Given the description of an element on the screen output the (x, y) to click on. 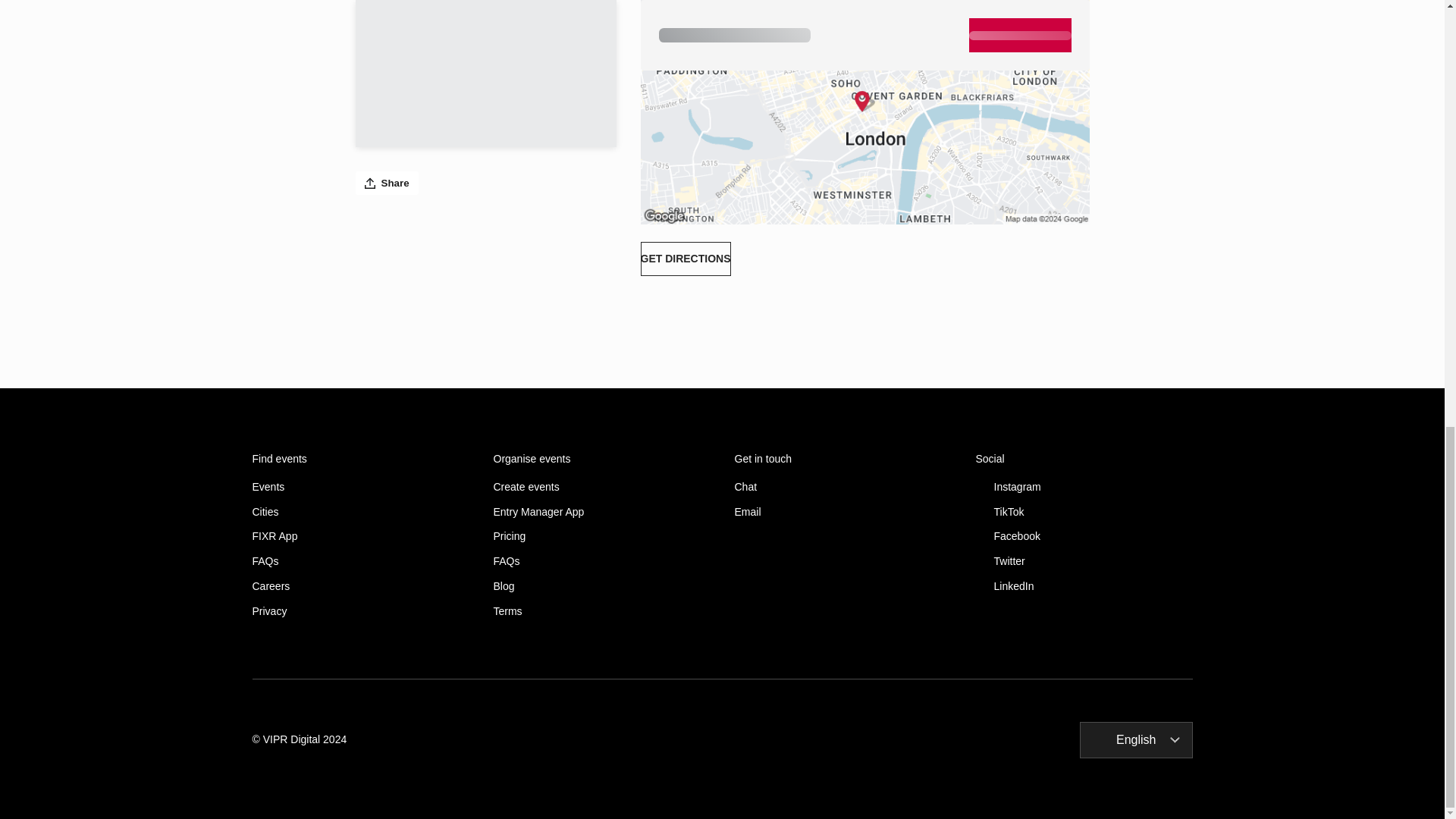
Entry Manager App (601, 512)
FAQs (359, 561)
Blog (601, 585)
Email (841, 512)
LinkedIn (1083, 585)
FIXR App (359, 535)
Privacy (359, 611)
Chat (841, 486)
TikTok (1083, 512)
Instagram (1083, 486)
Careers (359, 585)
Pricing (601, 535)
Events (359, 486)
Create events (601, 486)
Terms (601, 611)
